Given the description of an element on the screen output the (x, y) to click on. 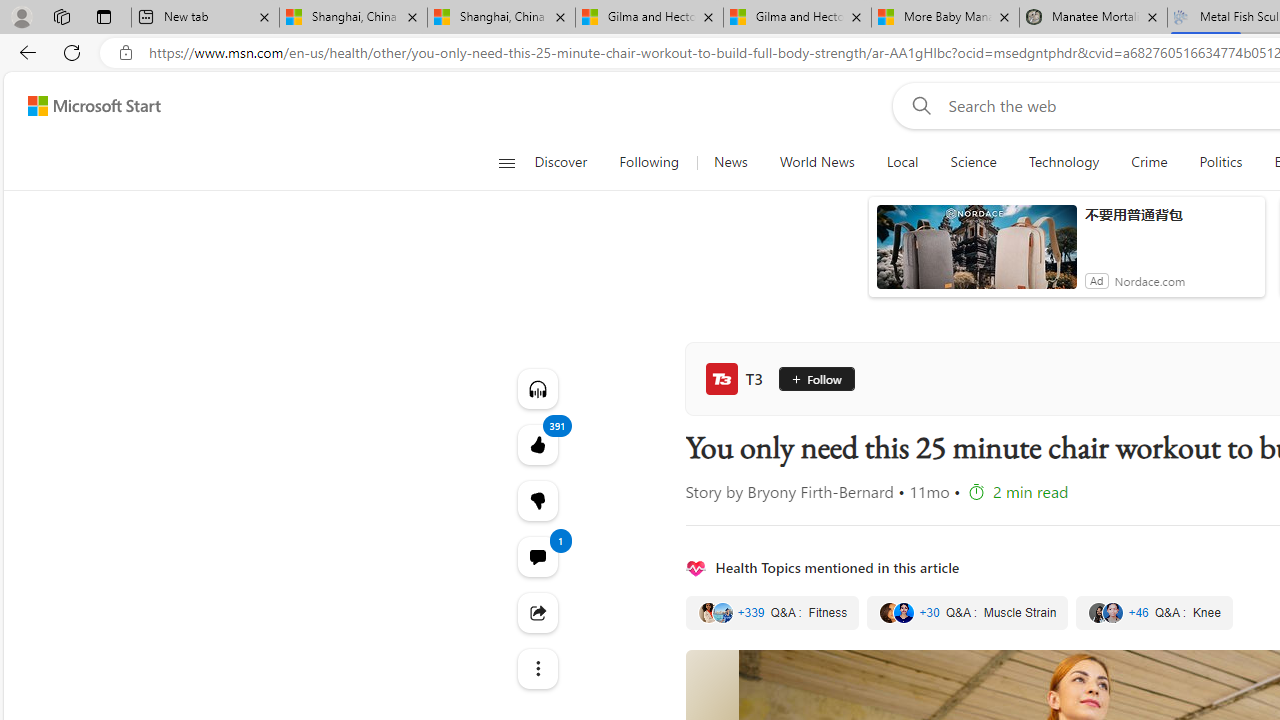
Follow (814, 378)
Shanghai, China weather forecast | Microsoft Weather (500, 17)
Crime (1149, 162)
Skip to footer (82, 105)
Nordace.com (1149, 280)
Share this story (537, 612)
Gilma and Hector both pose tropical trouble for Hawaii (797, 17)
Listen to this article (537, 388)
Science (973, 162)
Politics (1220, 162)
News (730, 162)
